Given the description of an element on the screen output the (x, y) to click on. 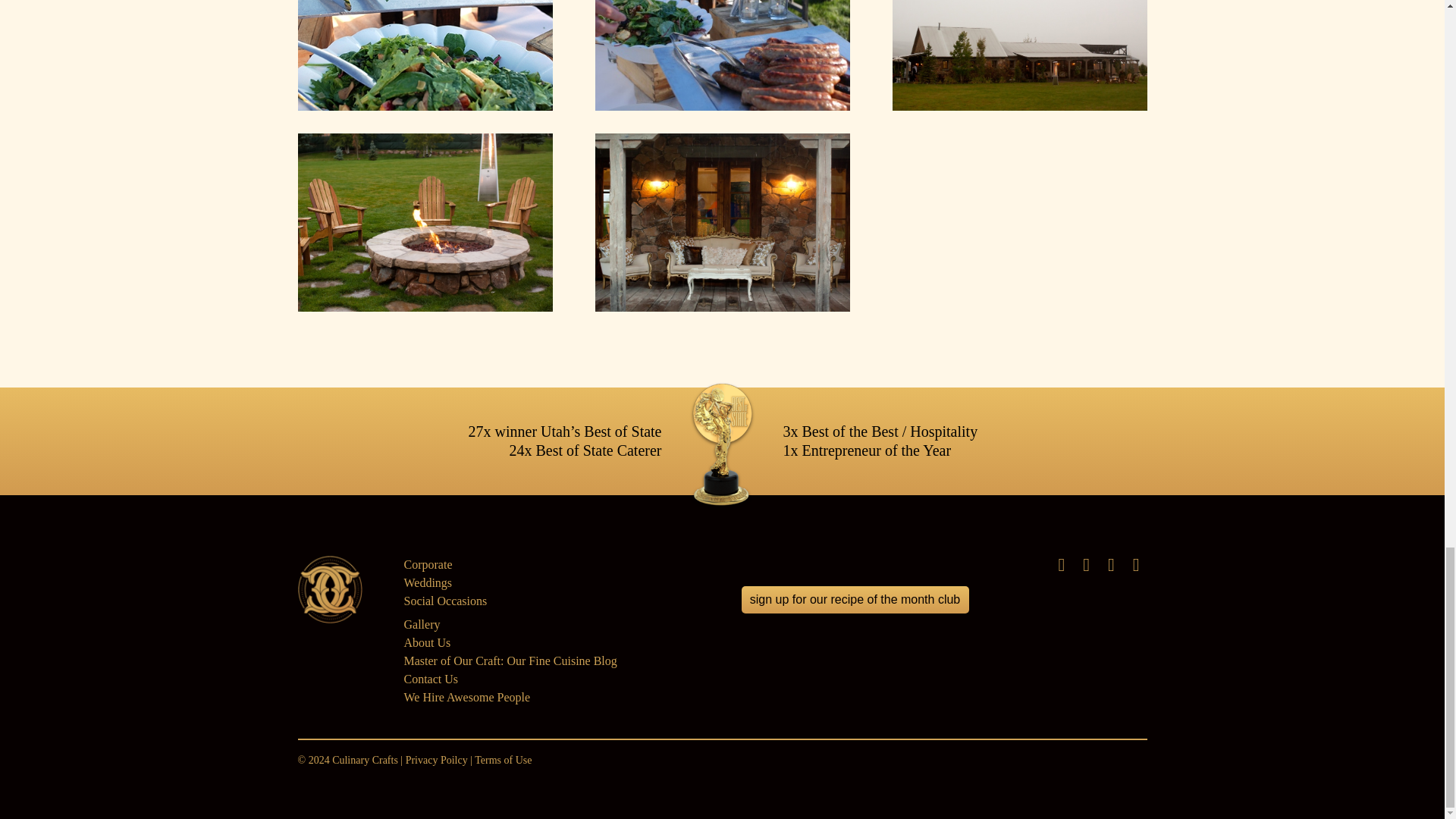
Corporate (427, 563)
Social Occasions (444, 600)
Weddings (427, 582)
Gallery (421, 624)
